Given the description of an element on the screen output the (x, y) to click on. 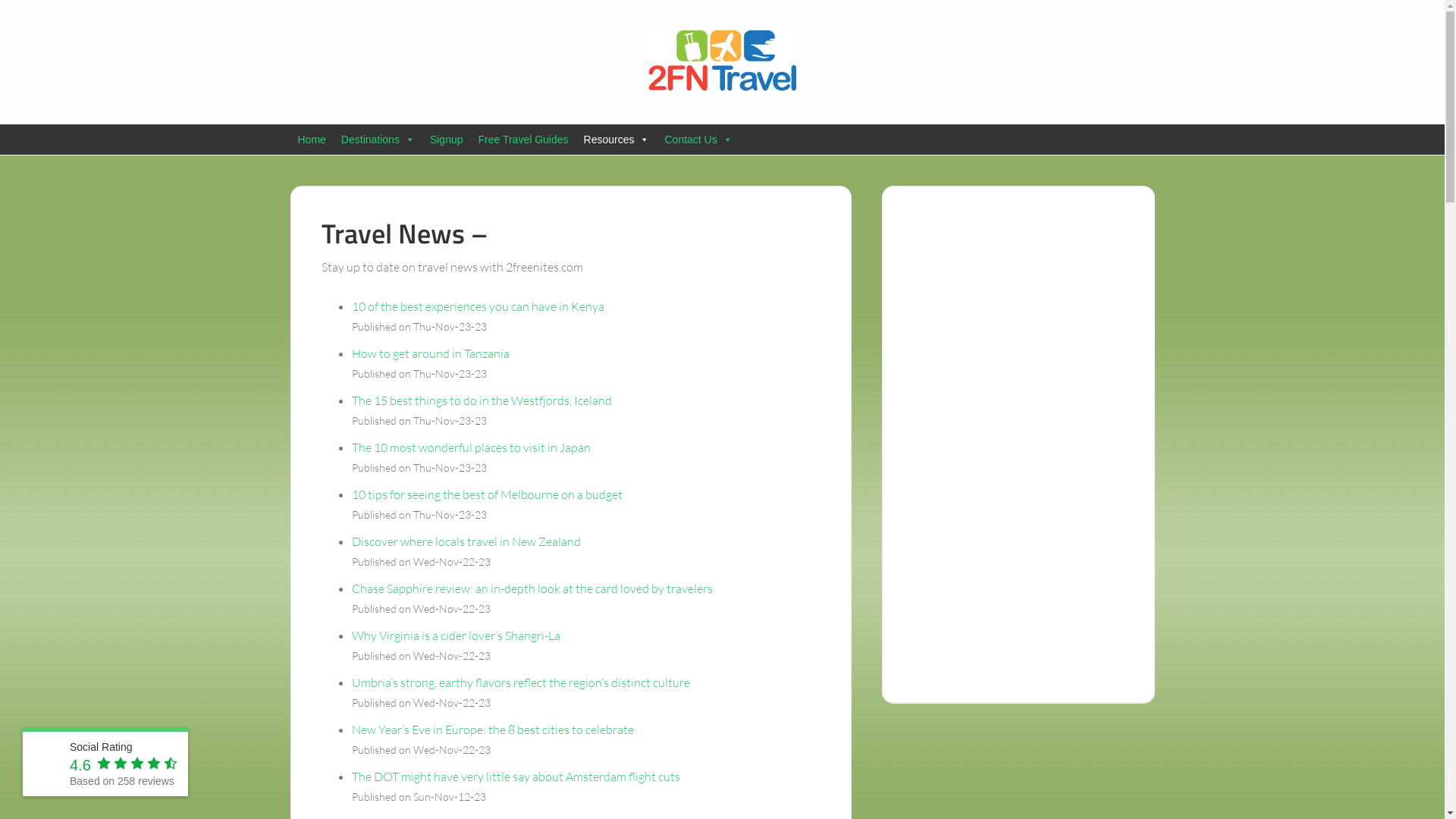
Home Element type: text (310, 139)
2freenites.com Element type: text (721, 60)
Free Travel Guides Element type: text (522, 139)
Destinations Element type: text (377, 139)
2freenites.com Element type: hover (46, 764)
Discover where locals travel in New Zealand Element type: text (465, 541)
The 15 best things to do in the Westfjords, Iceland Element type: text (481, 399)
10 of the best experiences you can have in Kenya Element type: text (477, 305)
The 10 most wonderful places to visit in Japan Element type: text (470, 447)
How to get around in Tanzania Element type: text (430, 352)
10 tips for seeing the best of Melbourne on a budget Element type: text (486, 494)
Advertisement Element type: hover (1018, 443)
Resources Element type: text (616, 139)
Contact Us Element type: text (697, 139)
Signup Element type: text (446, 139)
